Given the description of an element on the screen output the (x, y) to click on. 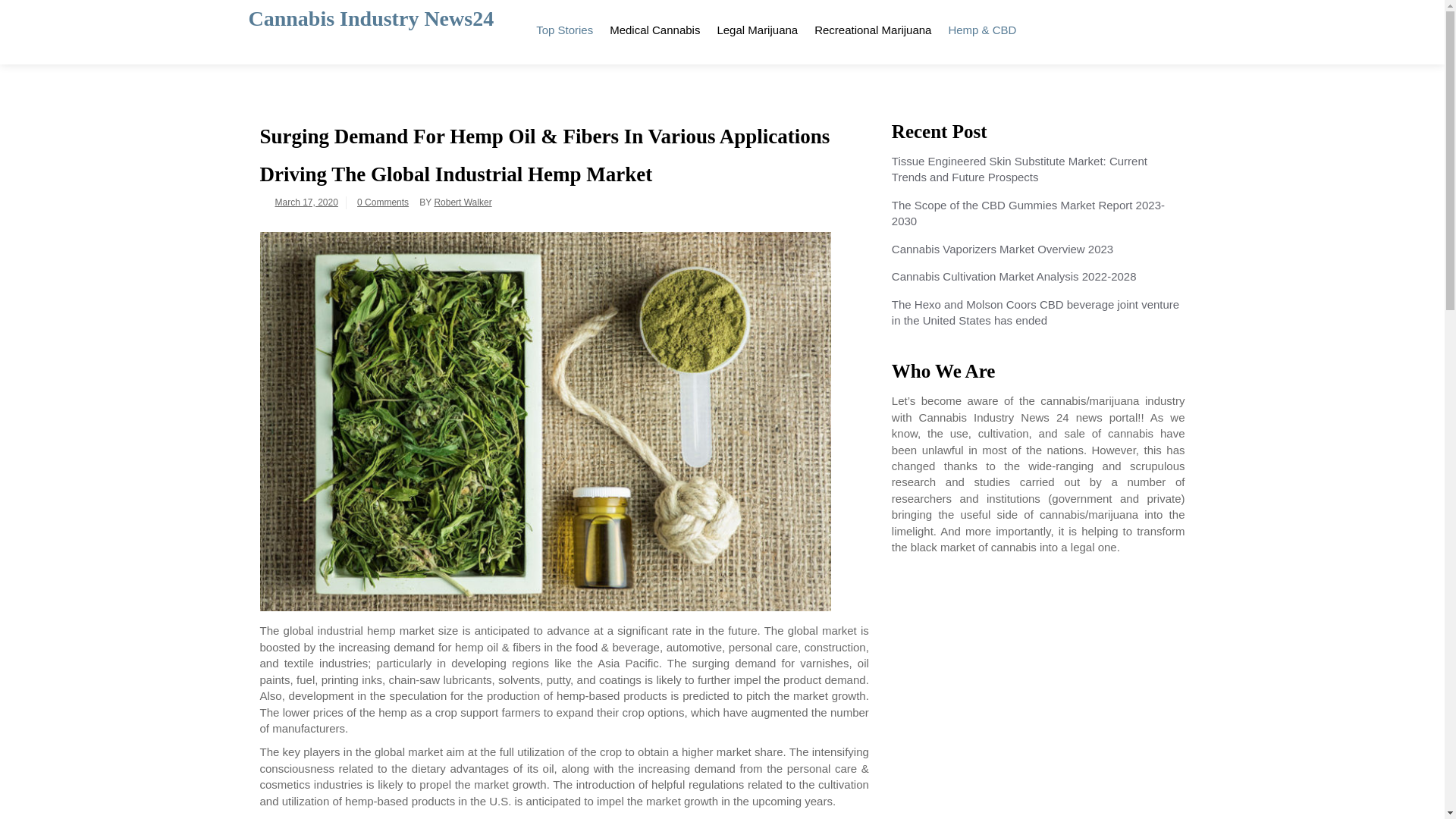
Legal Marijuana (756, 28)
Legal Marijuana (756, 28)
Recreational Marijuana (872, 28)
Cannabis Vaporizers Market Overview 2023 (1002, 248)
Top Stories (564, 28)
Medical Cannabis (654, 28)
Medical Cannabis (654, 28)
Cannabis Cultivation Market Analysis 2022-2028 (1014, 276)
March 17, 2020 (306, 202)
